Given the description of an element on the screen output the (x, y) to click on. 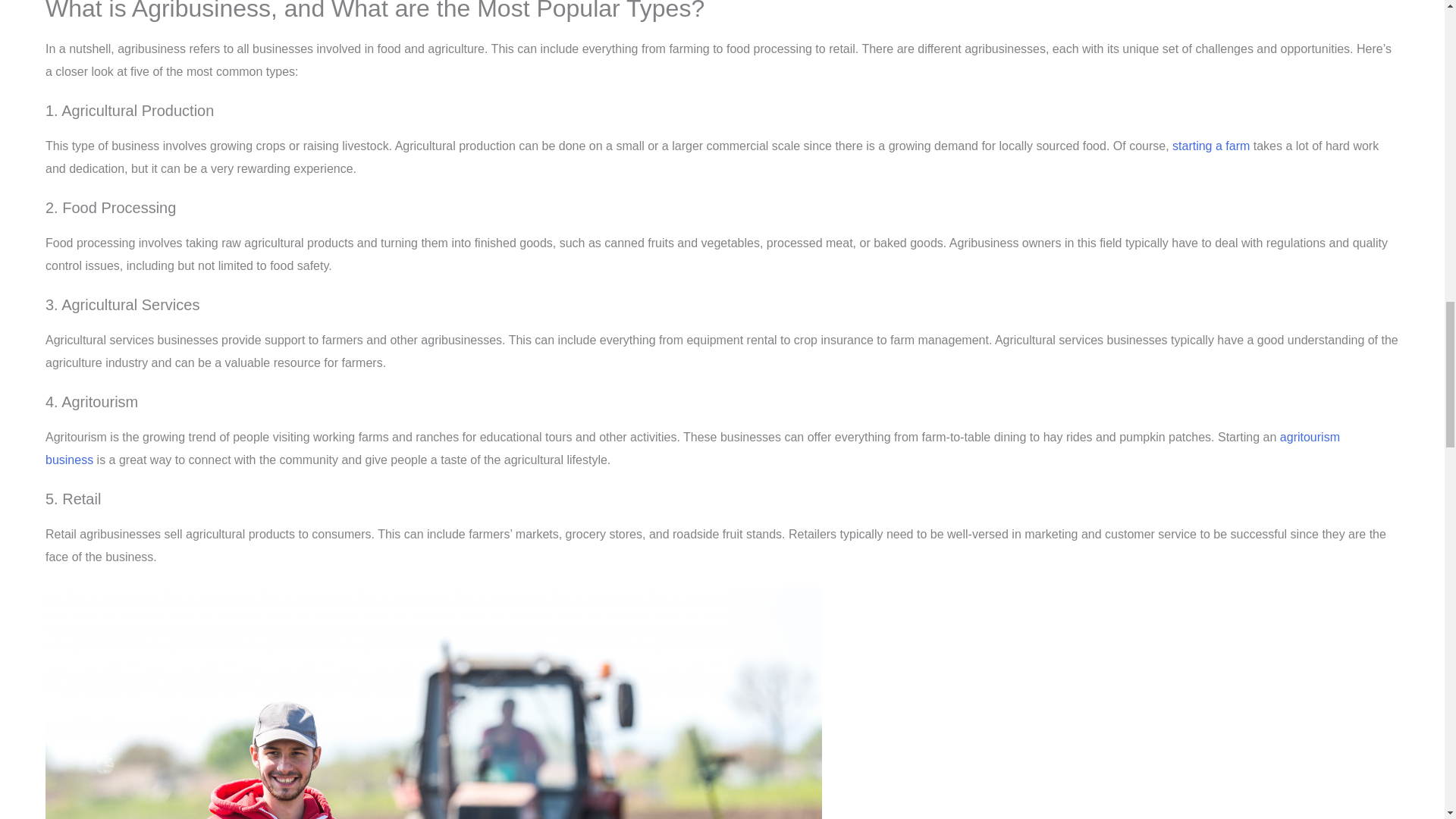
starting a farm (1210, 145)
agritourism business (692, 448)
